Given the description of an element on the screen output the (x, y) to click on. 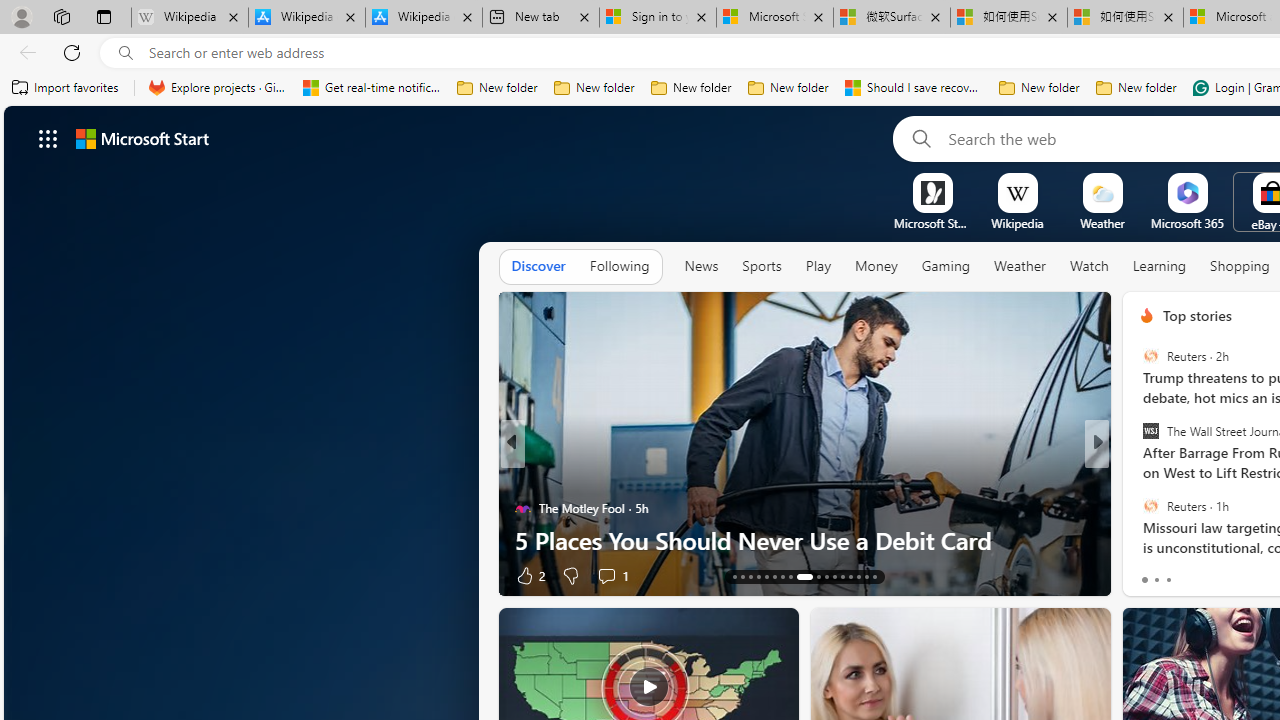
Weather (1020, 265)
Wikipedia (1017, 223)
tab-0 (1143, 579)
Wikipedia - Sleeping (189, 17)
Newsweek (1138, 507)
90 Like (1149, 574)
AutomationID: tab-27 (857, 576)
Money (875, 265)
Learning (1159, 265)
View comments 4 Comment (1234, 574)
Search icon (125, 53)
AutomationID: tab-23 (825, 576)
